Given the description of an element on the screen output the (x, y) to click on. 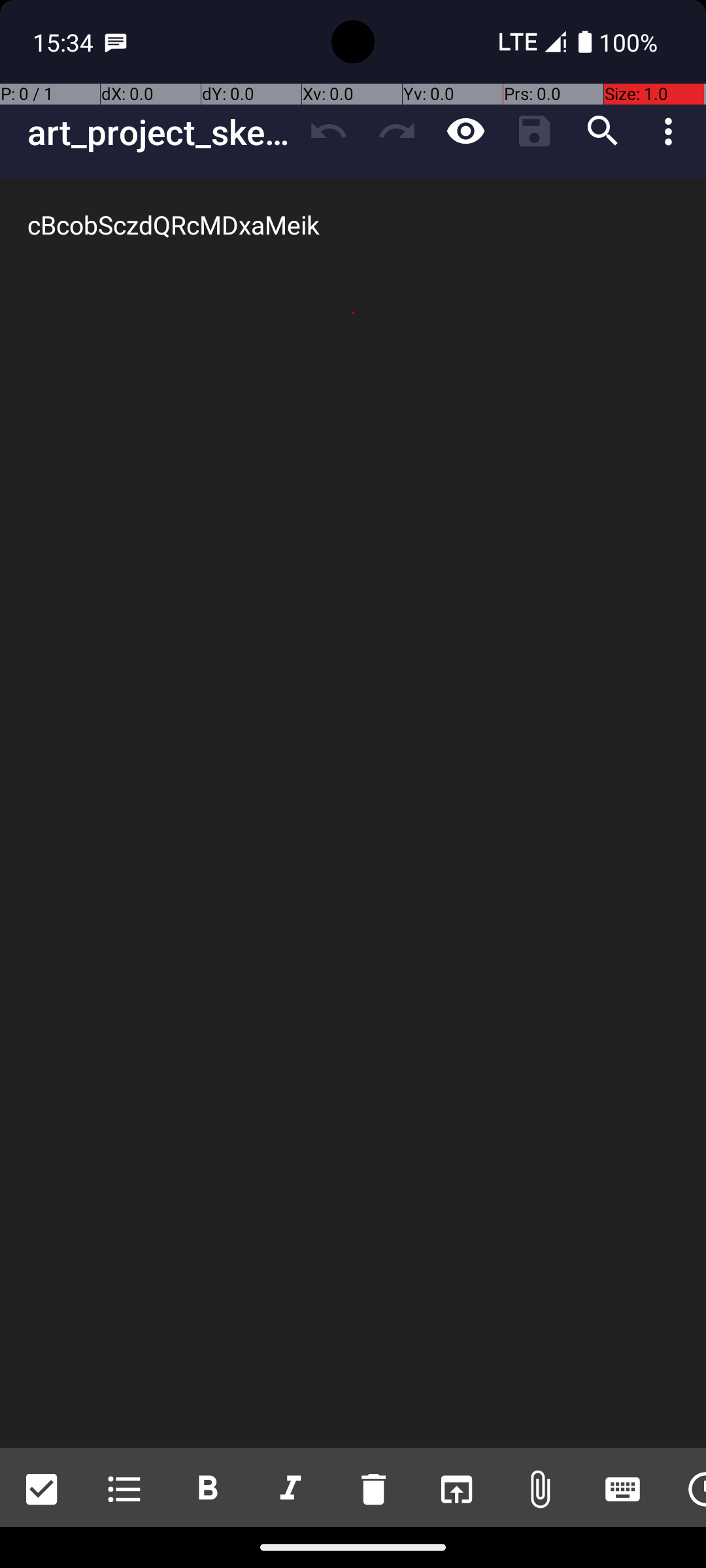
art_project_sketches_edited Element type: android.widget.TextView (160, 131)
cBcobSczdQRcMDxaMeik
 Element type: android.widget.EditText (353, 813)
